Given the description of an element on the screen output the (x, y) to click on. 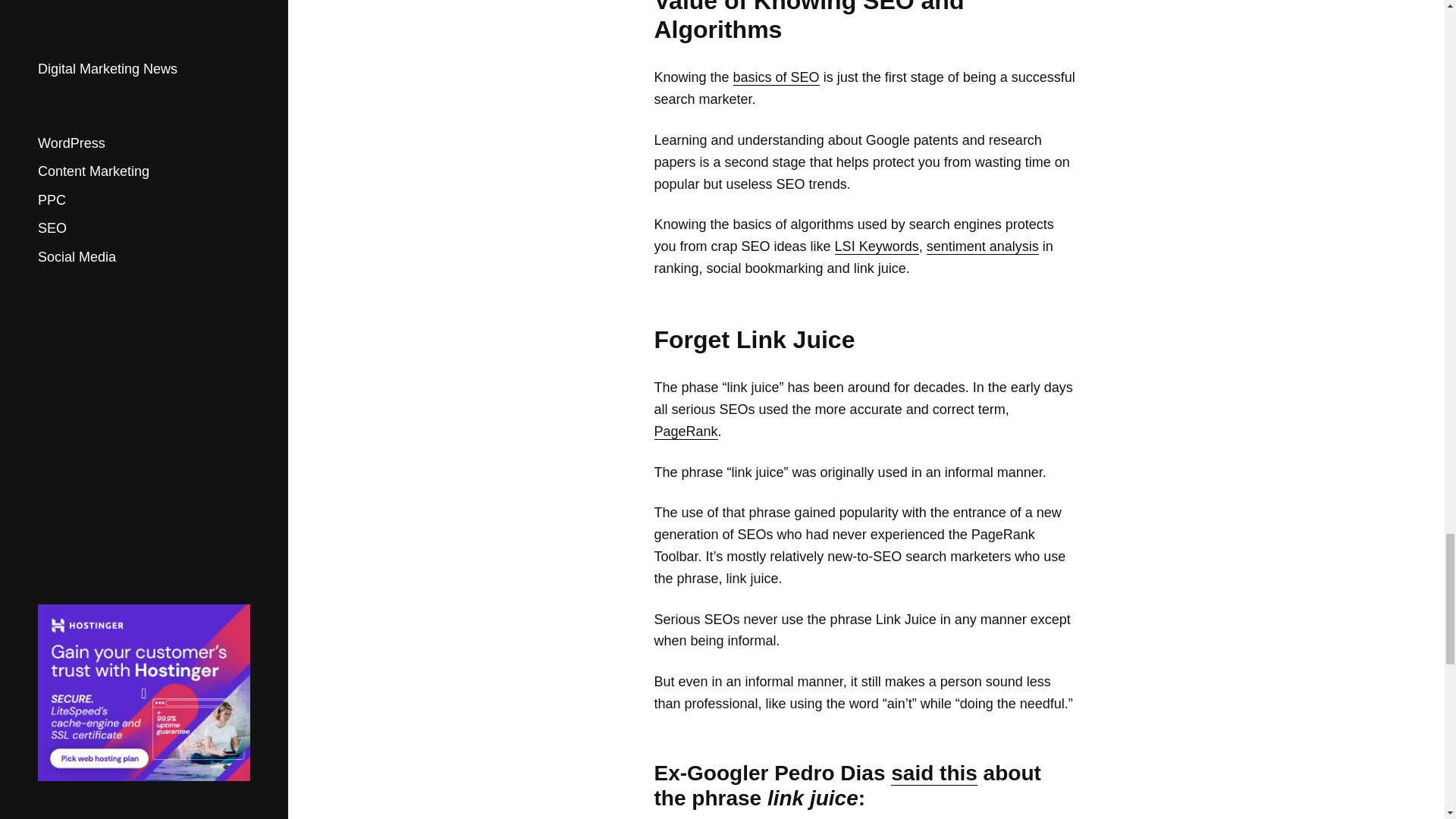
said this (933, 773)
PageRank (685, 431)
sentiment analysis (982, 246)
LSI Keywords (876, 246)
basics of SEO (776, 77)
